Given the description of an element on the screen output the (x, y) to click on. 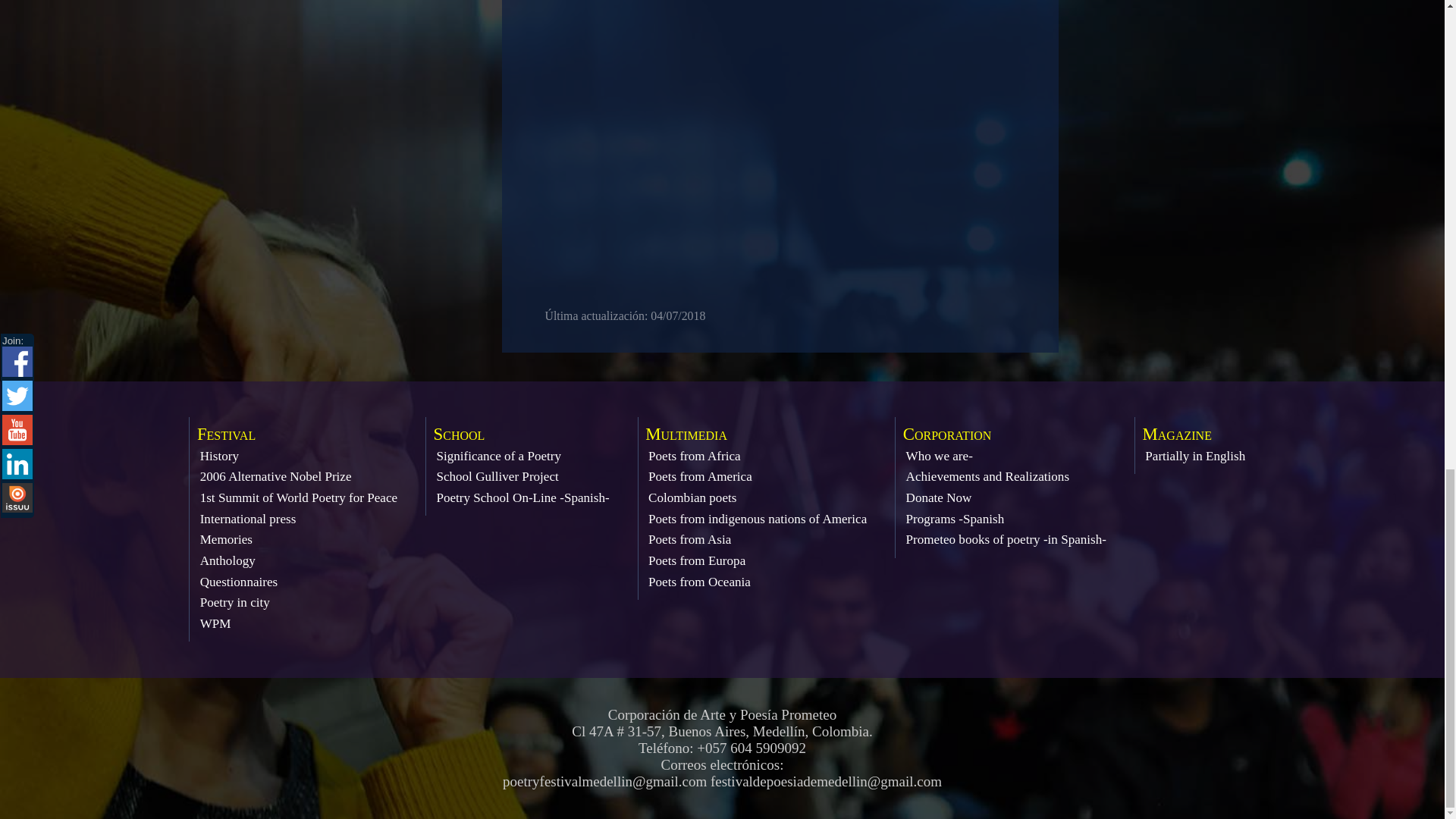
International press (248, 518)
History (219, 455)
Festival (226, 434)
1st Summit of World Poetry for Peace (298, 497)
2006 Alternative Nobel Prize (276, 476)
Anthology (228, 560)
Memories (225, 539)
Poetry in city (234, 602)
WPM (215, 623)
Questionnaires (239, 581)
